Given the description of an element on the screen output the (x, y) to click on. 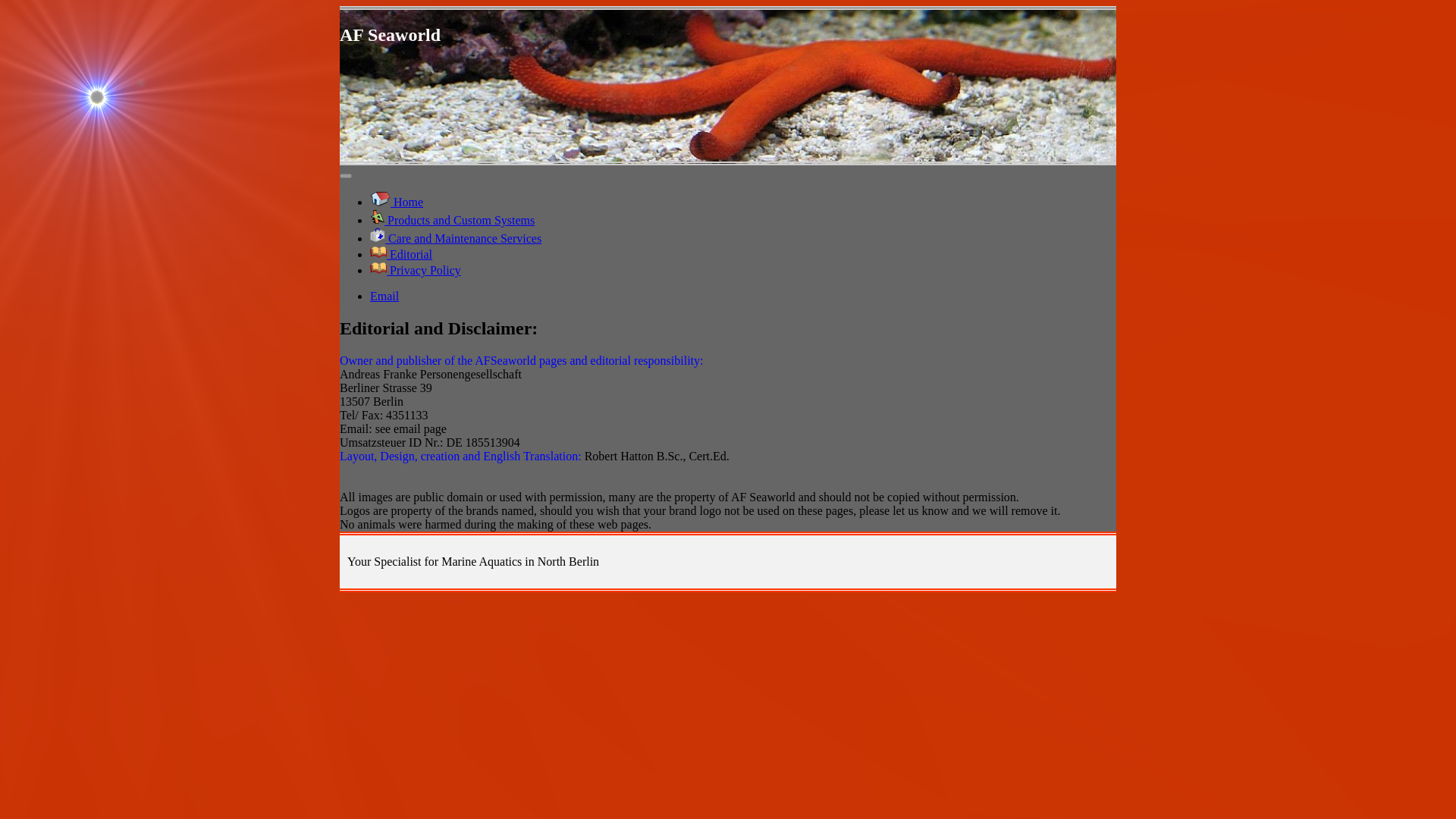
 Home (396, 201)
Email (383, 295)
 Products and Custom Systems (451, 219)
 Privacy Policy (415, 269)
 Care and Maintenance Services (455, 237)
 Editorial (400, 254)
